Given the description of an element on the screen output the (x, y) to click on. 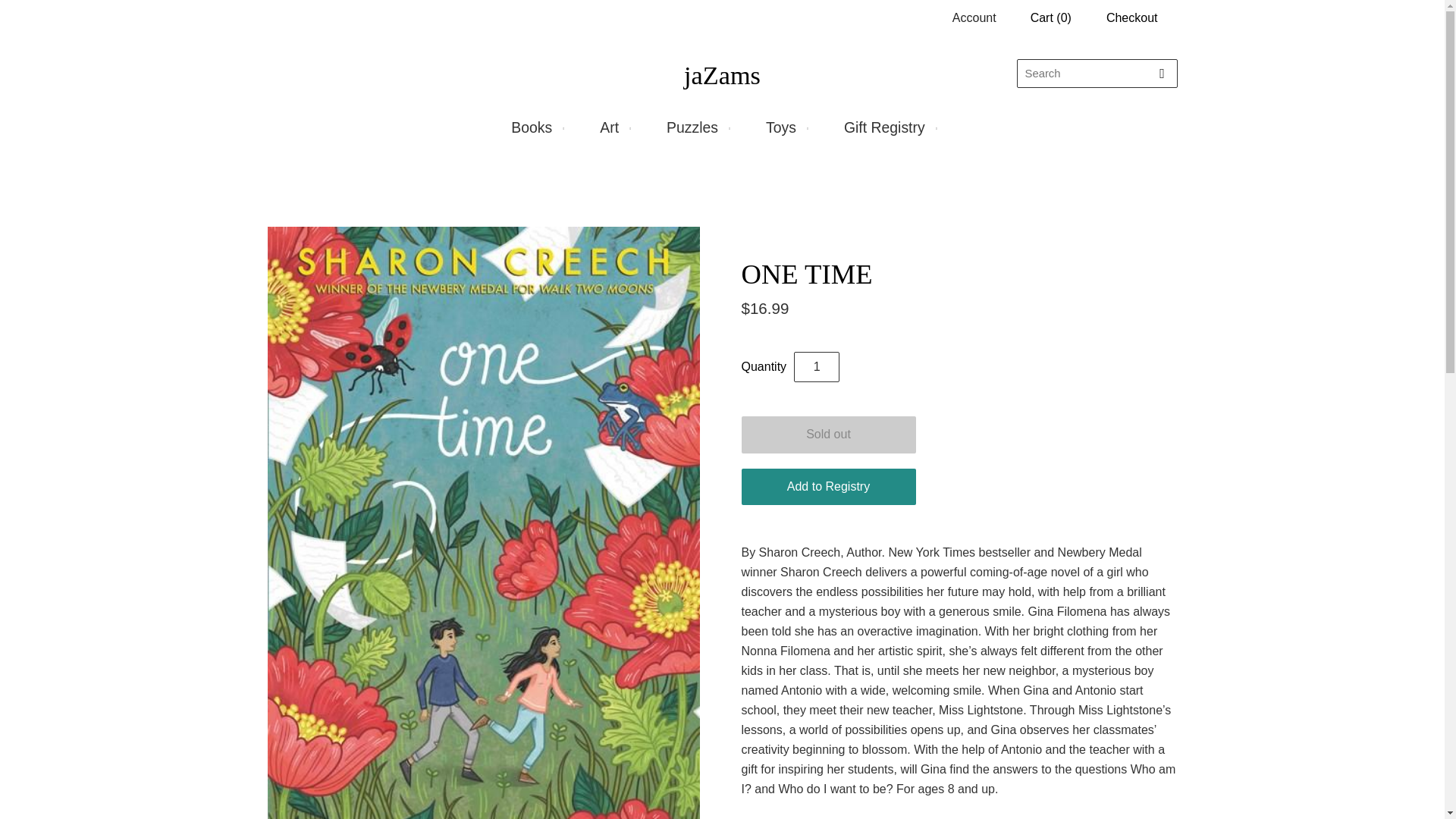
Add to Registry (828, 486)
Sold out (828, 434)
Books (535, 127)
jaZams (722, 74)
Puzzles (695, 127)
Checkout (1131, 17)
Toys (784, 127)
Art (612, 127)
Account (973, 17)
1 (816, 367)
